Given the description of an element on the screen output the (x, y) to click on. 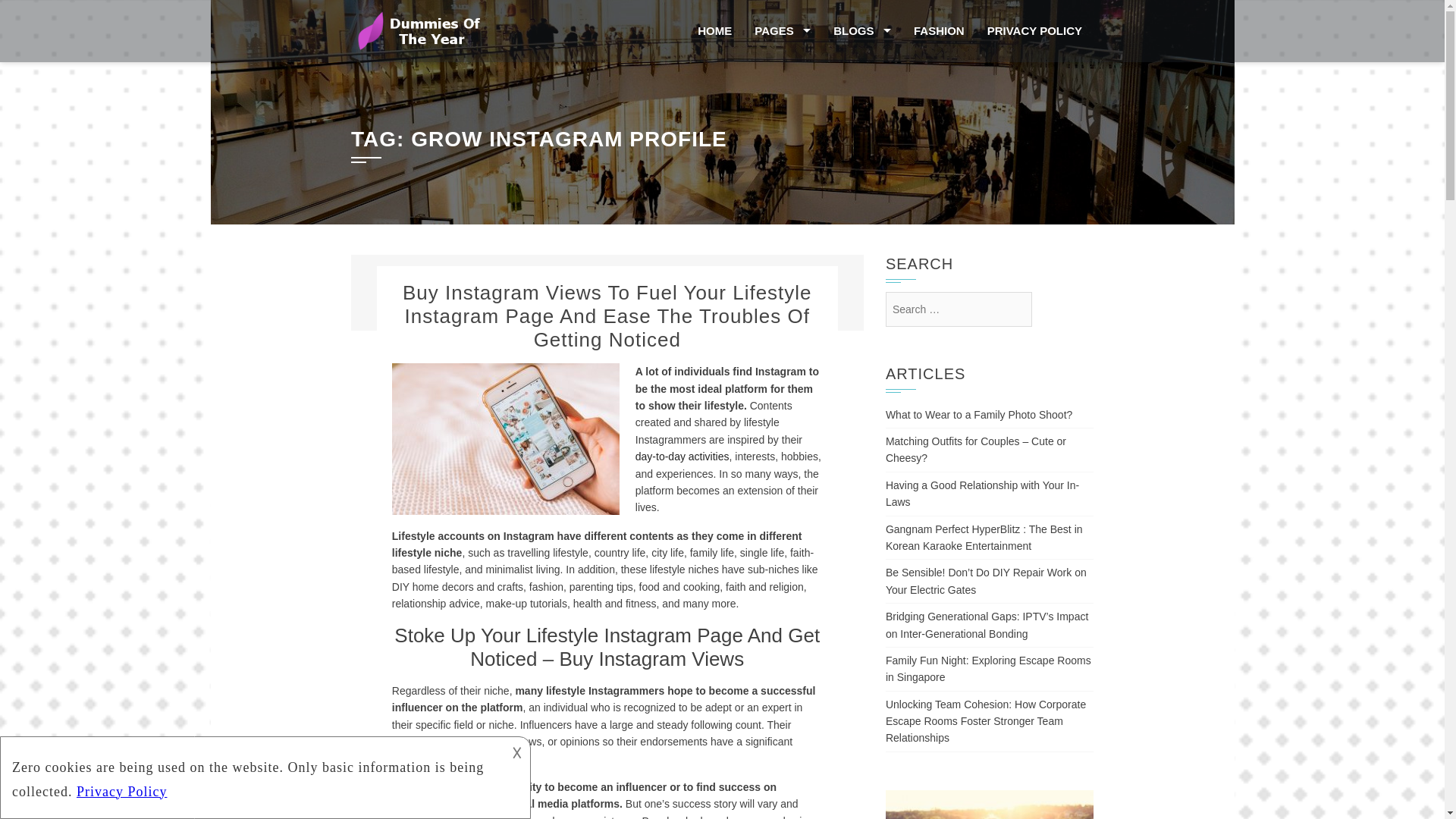
What to Wear to a Family Photo Shoot? (978, 414)
Family Fun Night: Exploring Escape Rooms in Singapore (987, 668)
Search (39, 17)
BLOGS (862, 31)
description (252, 775)
FASHION (938, 31)
Having a Good Relationship with Your In-Laws (981, 493)
HOME (713, 31)
PRIVACY POLICY (1034, 31)
day-to-day activities (681, 456)
PAGES (782, 31)
